Given the description of an element on the screen output the (x, y) to click on. 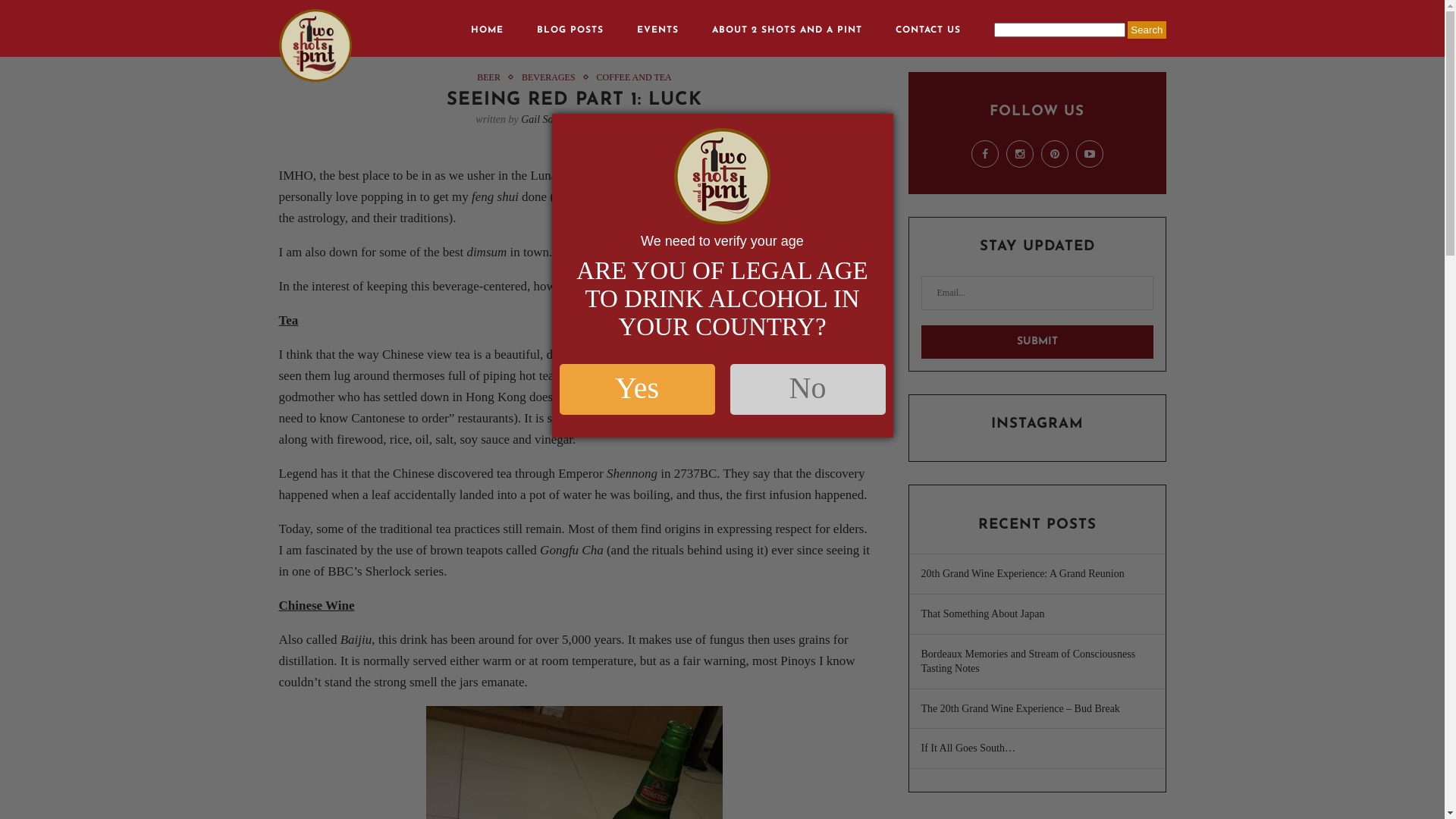
COFFEE AND TEA Element type: text (633, 77)
Gail Sotelo Element type: text (544, 119)
HOME Element type: text (486, 30)
ABOUT 2 SHOTS AND A PINT Element type: text (787, 30)
CONTACT US Element type: text (927, 30)
That Something About Japan Element type: text (982, 613)
BEVERAGES Element type: text (552, 77)
SUBMIT Element type: text (1036, 341)
Bordeaux Memories and Stream of Consciousness Tasting Notes Element type: text (1027, 660)
Search Element type: text (1146, 29)
BLOG POSTS Element type: text (569, 30)
BEER Element type: text (492, 77)
20th Grand Wine Experience: A Grand Reunion Element type: text (1021, 573)
EVENTS Element type: text (657, 30)
